Given the description of an element on the screen output the (x, y) to click on. 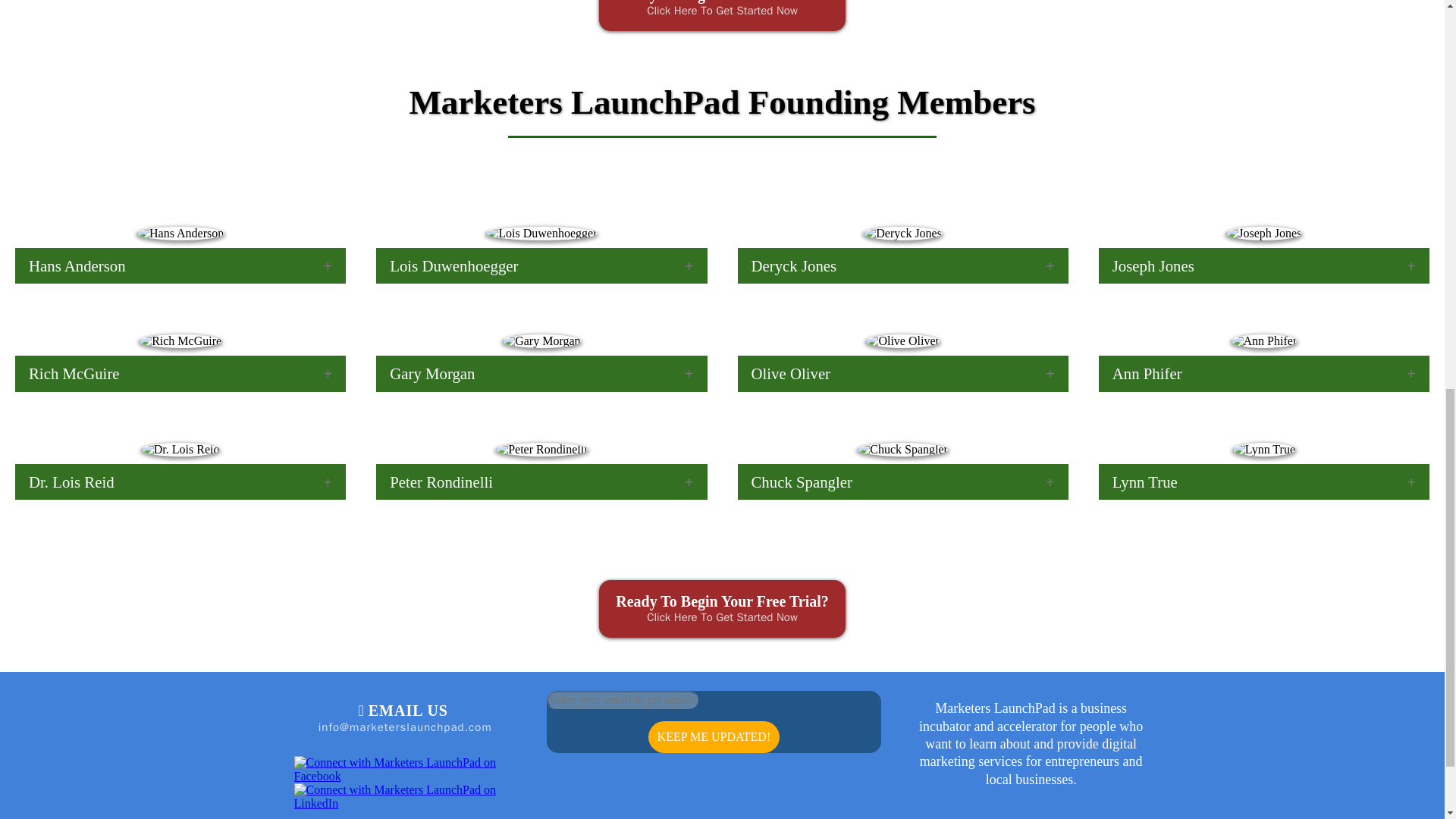
Peter Rondinelli (540, 481)
Rich McGuire (180, 373)
Joseph Jones (1264, 264)
Ann Phifer (1264, 373)
Gary Morgan (540, 373)
Lynn True (1264, 481)
Lois Duwenhoegger (540, 264)
Dr. Lois Reid (180, 481)
Deryck Jones (901, 264)
